Given the description of an element on the screen output the (x, y) to click on. 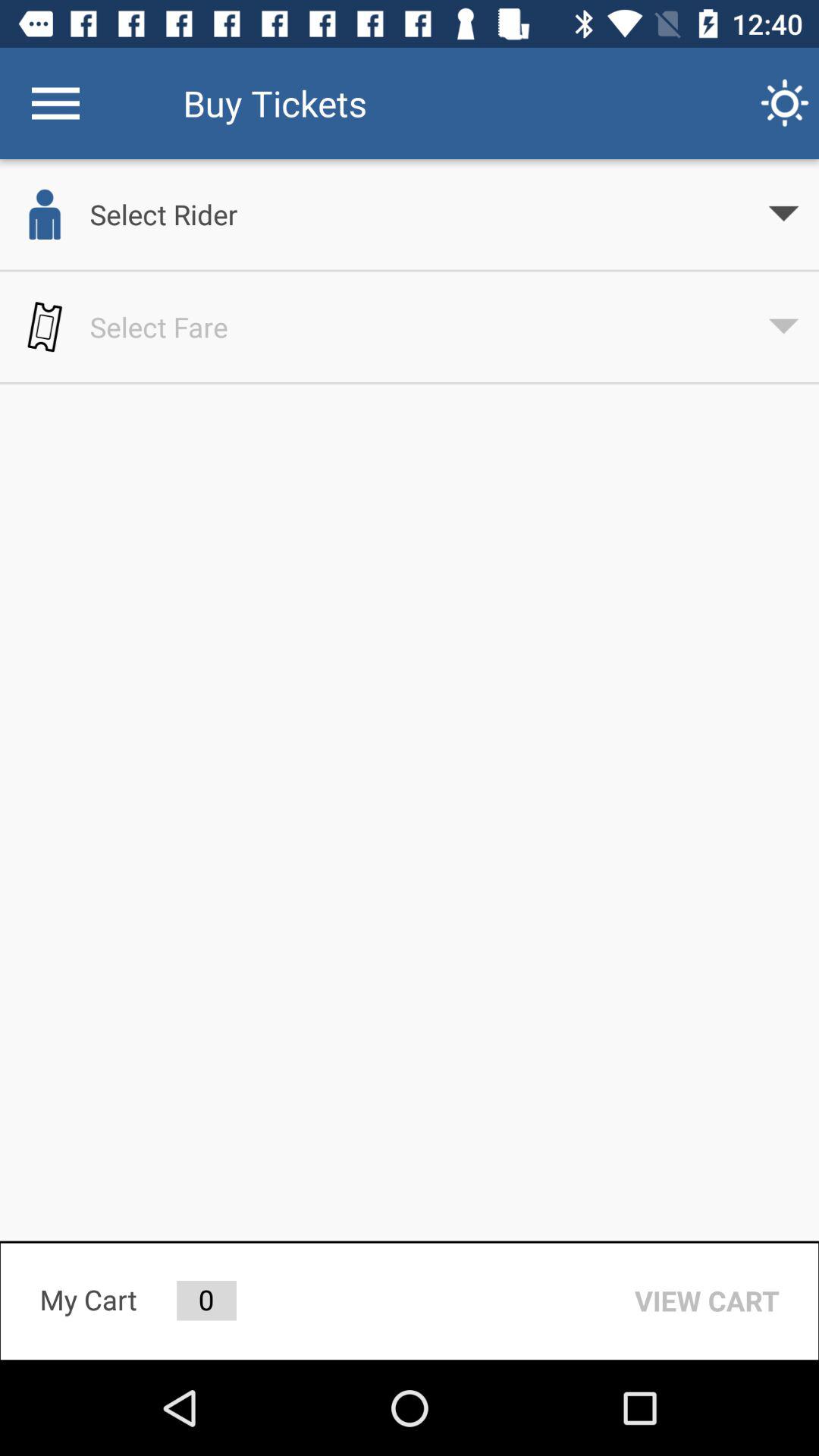
turn off the icon next to the buy tickets icon (55, 103)
